Given the description of an element on the screen output the (x, y) to click on. 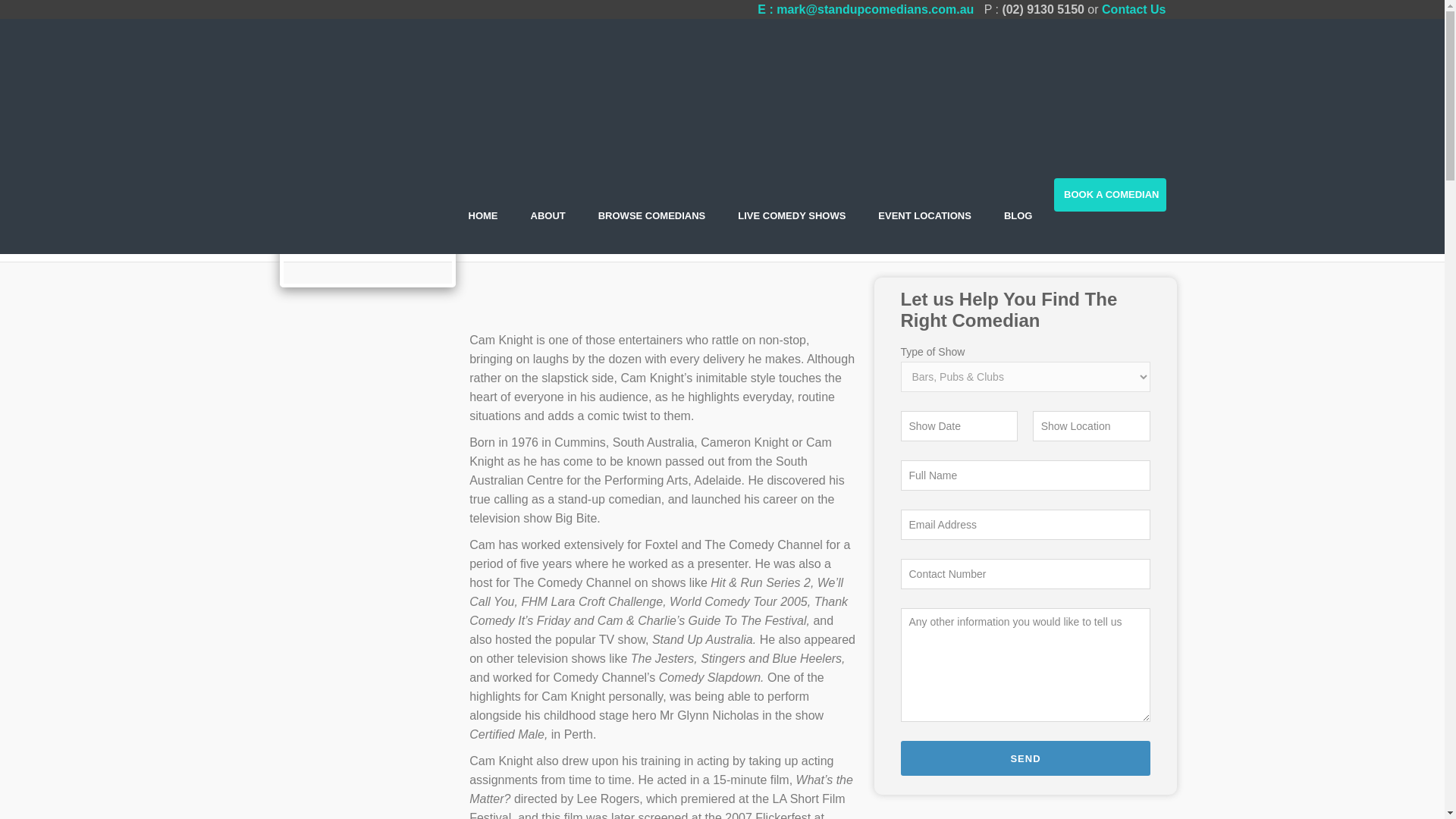
BROWSE COMEDIANS (652, 215)
Live Comedy Shows (791, 215)
Contact Us (1134, 9)
EVENT LOCATIONS (924, 215)
Browse Comedians (652, 215)
Send (1026, 758)
Send (1026, 758)
 BOOK A COMEDIAN (1110, 194)
Book a Comedian (1110, 194)
LIVE COMEDY SHOWS (791, 215)
